Given the description of an element on the screen output the (x, y) to click on. 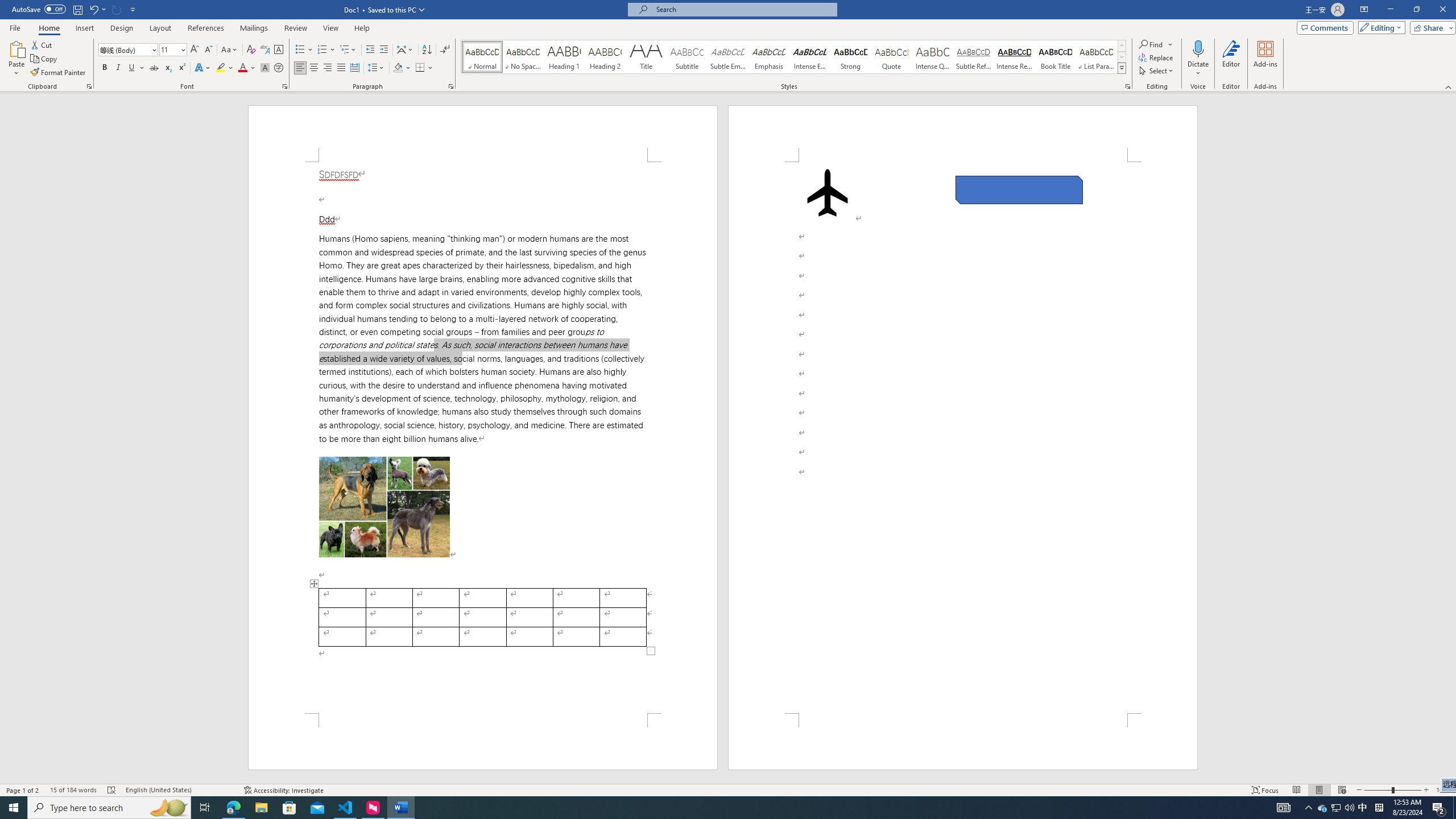
Row Down (1121, 56)
Copy (45, 58)
Italic (118, 67)
Replace... (1156, 56)
Zoom 104% (1443, 790)
Rectangle: Diagonal Corners Snipped 2 (1019, 189)
Text Highlight Color Yellow (220, 67)
Font Color (246, 67)
Heading 1 (564, 56)
